Given the description of an element on the screen output the (x, y) to click on. 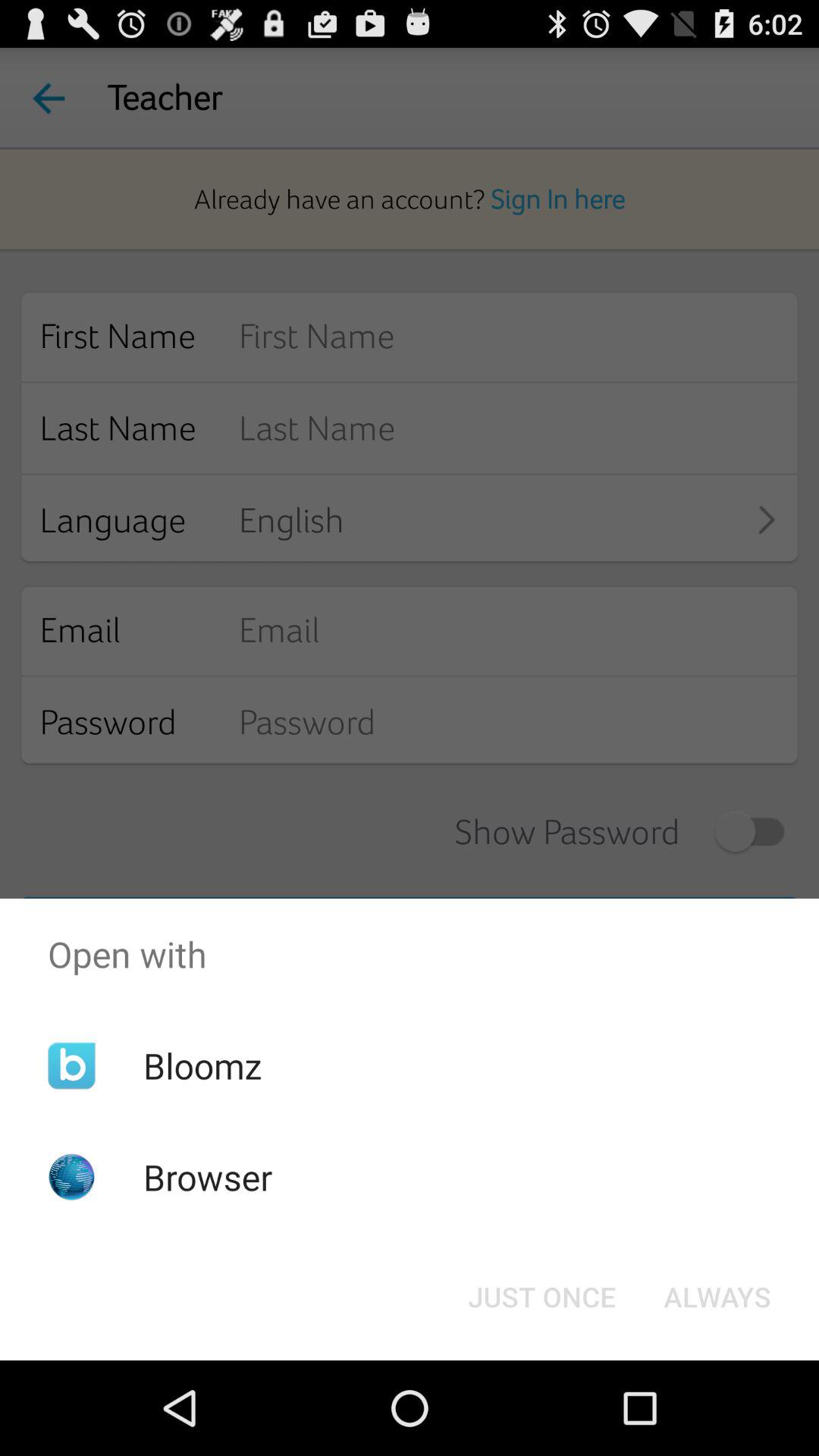
click item below bloomz icon (207, 1176)
